Given the description of an element on the screen output the (x, y) to click on. 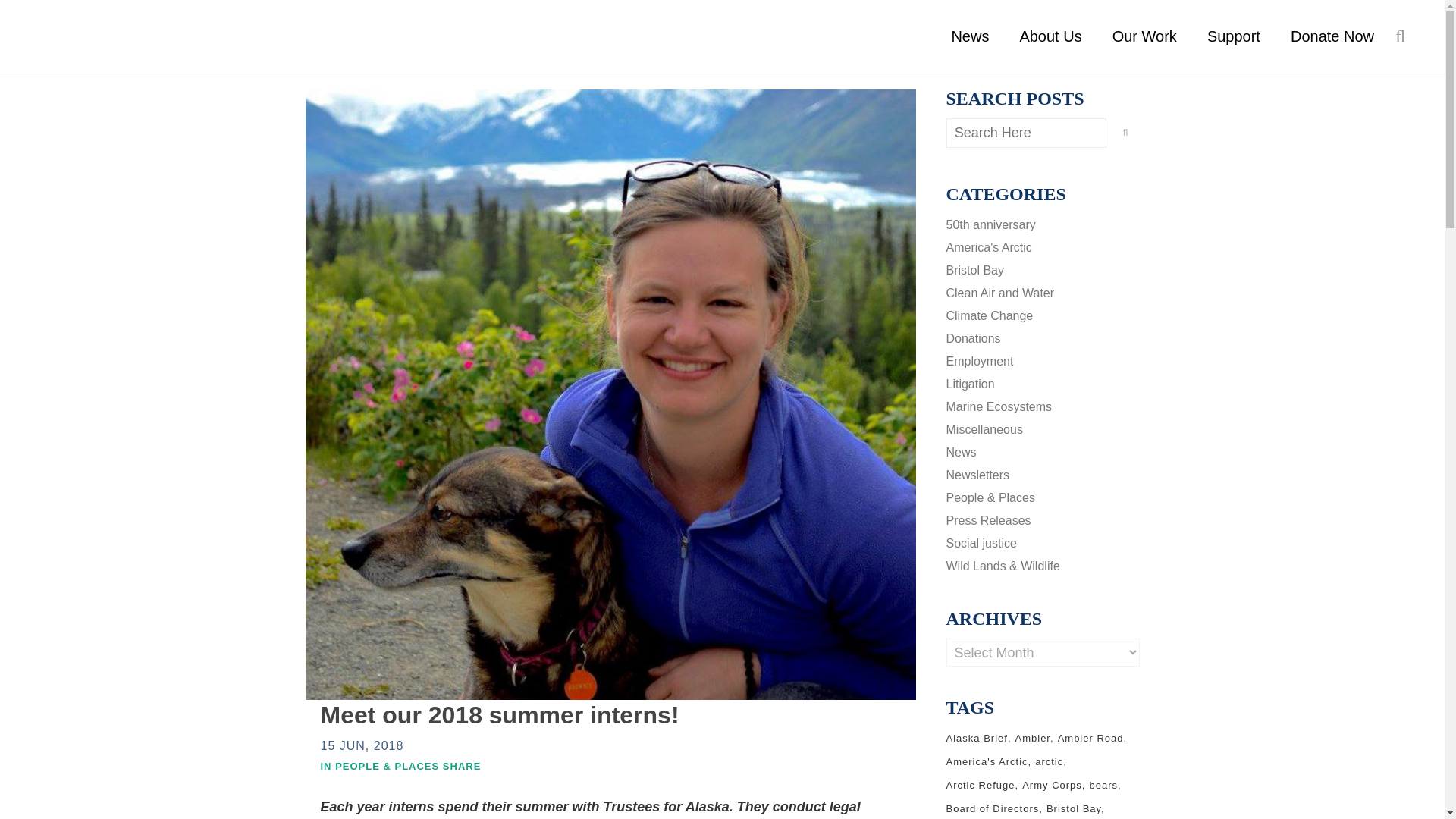
About Us (1050, 36)
Donate Now (1332, 36)
Support (1233, 36)
News (970, 36)
Our Work (1144, 36)
